Given the description of an element on the screen output the (x, y) to click on. 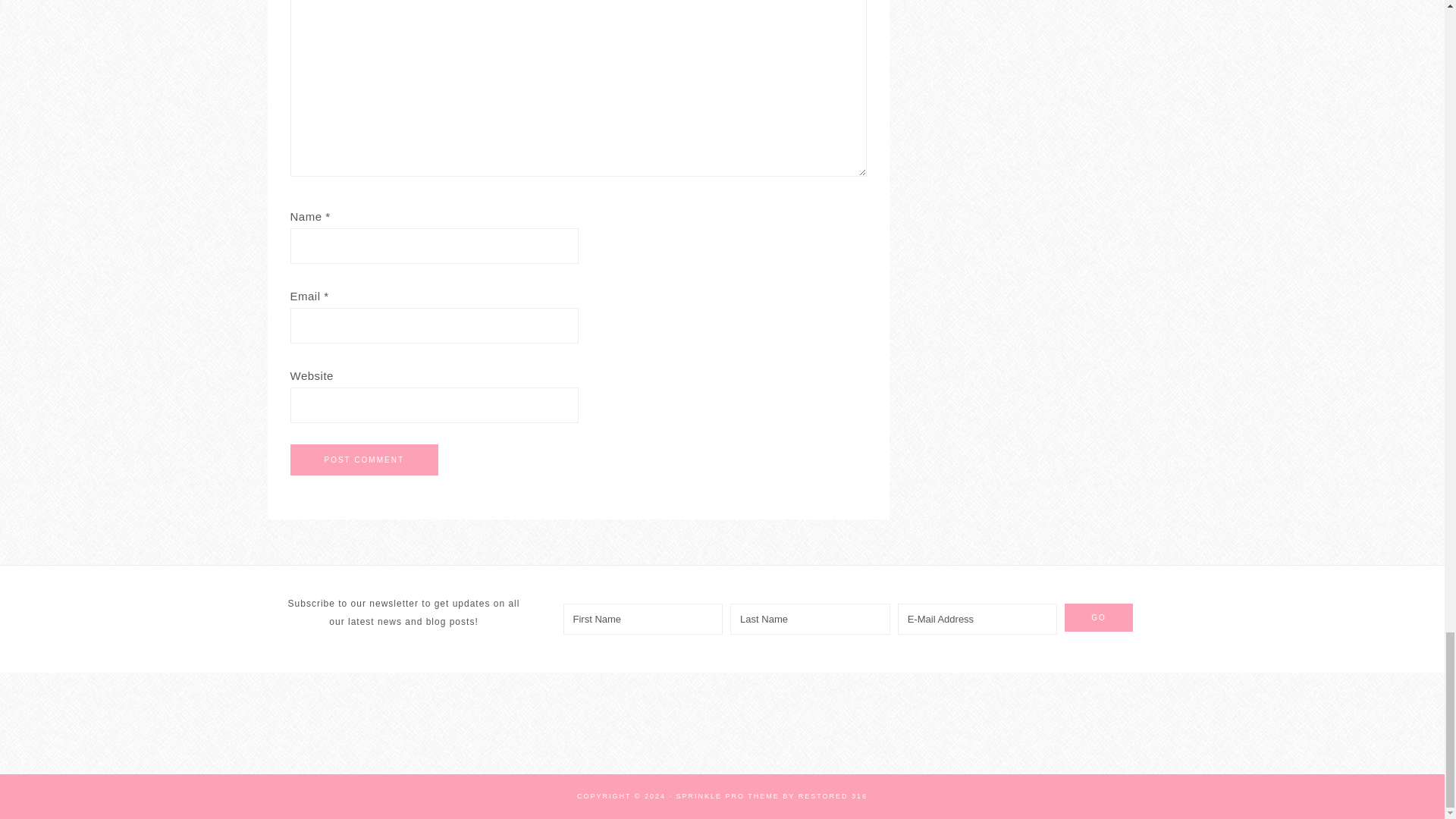
Post Comment (363, 459)
Post Comment (363, 459)
